Given the description of an element on the screen output the (x, y) to click on. 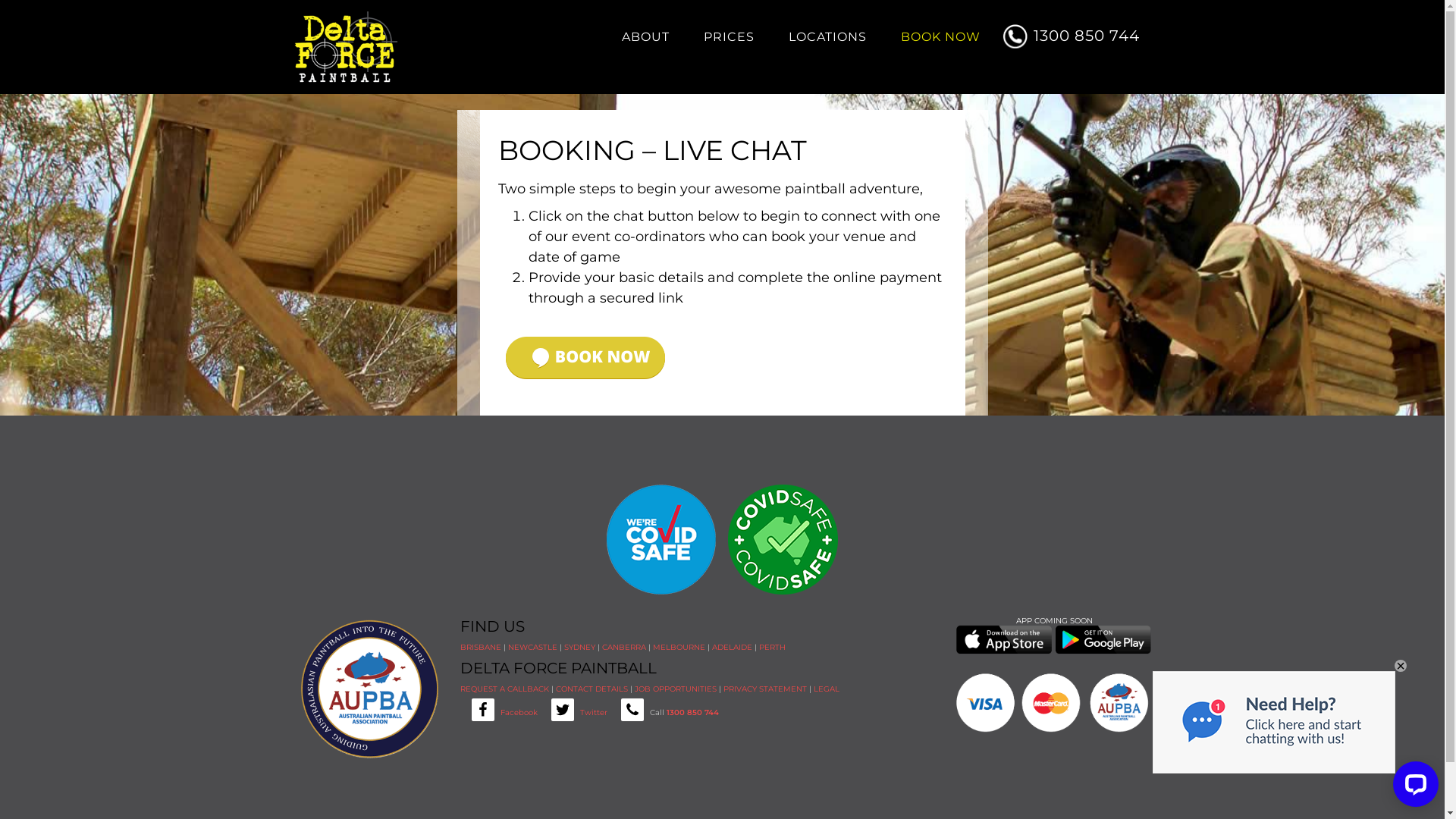
ABOUT Element type: text (645, 36)
BOOK NOW Element type: text (940, 36)
1300 850 744 Element type: text (1076, 24)
ADELAIDE Element type: text (731, 647)
TwitterTwitter Element type: text (573, 712)
SYDNEY Element type: text (579, 647)
DELTA FORCE PAINTBALL Element type: text (376, 49)
PRICES Element type: text (728, 36)
1300 850 744 Element type: text (691, 712)
NEWCASTLE Element type: text (532, 647)
PERTH Element type: text (771, 647)
REQUEST A CALLBACK Element type: text (503, 688)
PRIVACY STATEMENT Element type: text (764, 688)
BRISBANE Element type: text (479, 647)
JOB OPPORTUNITIES Element type: text (674, 688)
LEGAL Element type: text (825, 688)
MELBOURNE Element type: text (678, 647)
FacebookFacebook Element type: text (497, 712)
CONTACT DETAILS Element type: text (591, 688)
CANBERRA Element type: text (624, 647)
LOCATIONS Element type: text (827, 36)
